Given the description of an element on the screen output the (x, y) to click on. 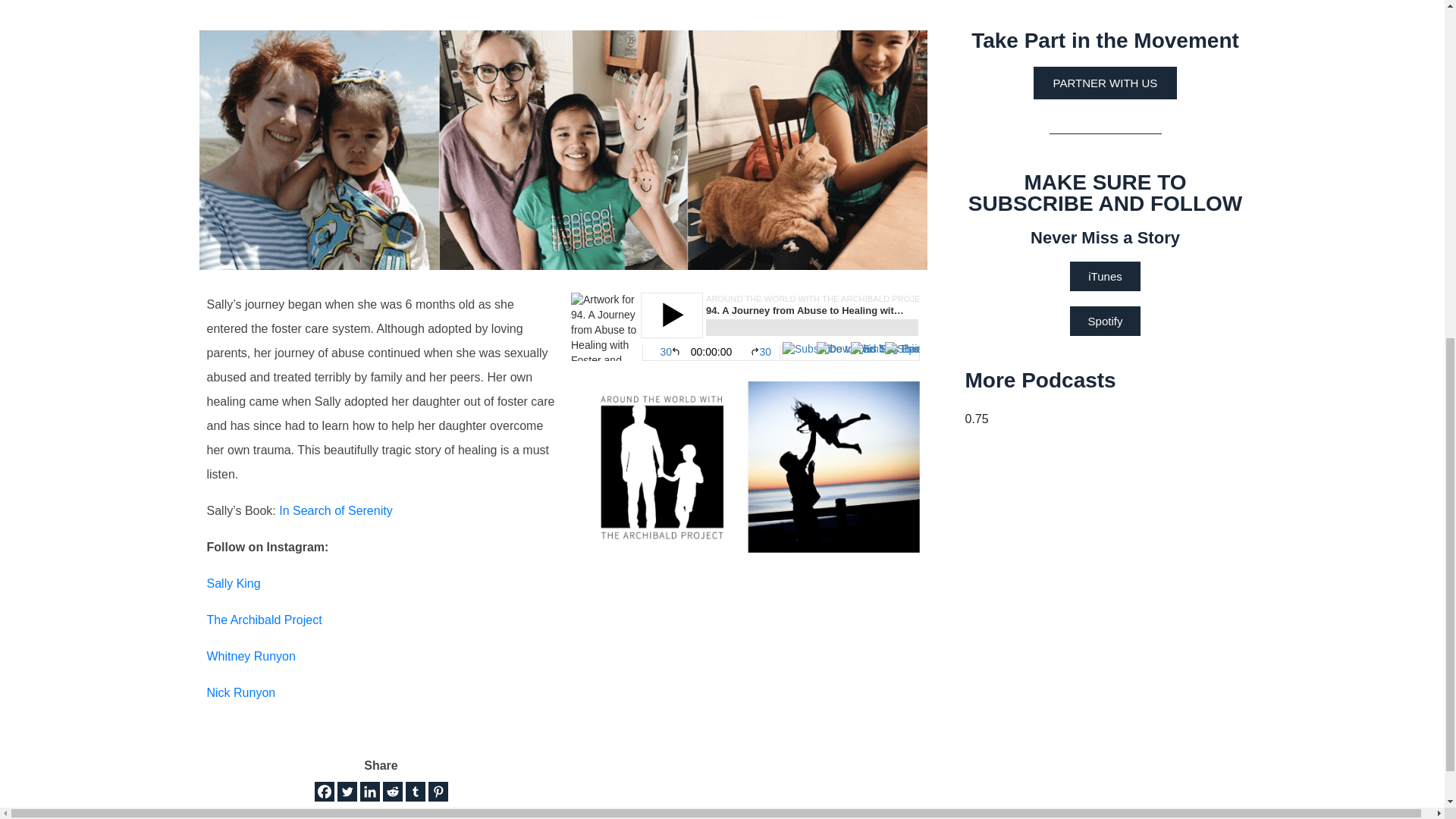
Pinterest (437, 791)
Facebook (323, 791)
Linkedin (368, 791)
Reddit (391, 791)
Tumblr (414, 791)
Twitter (346, 791)
